Given the description of an element on the screen output the (x, y) to click on. 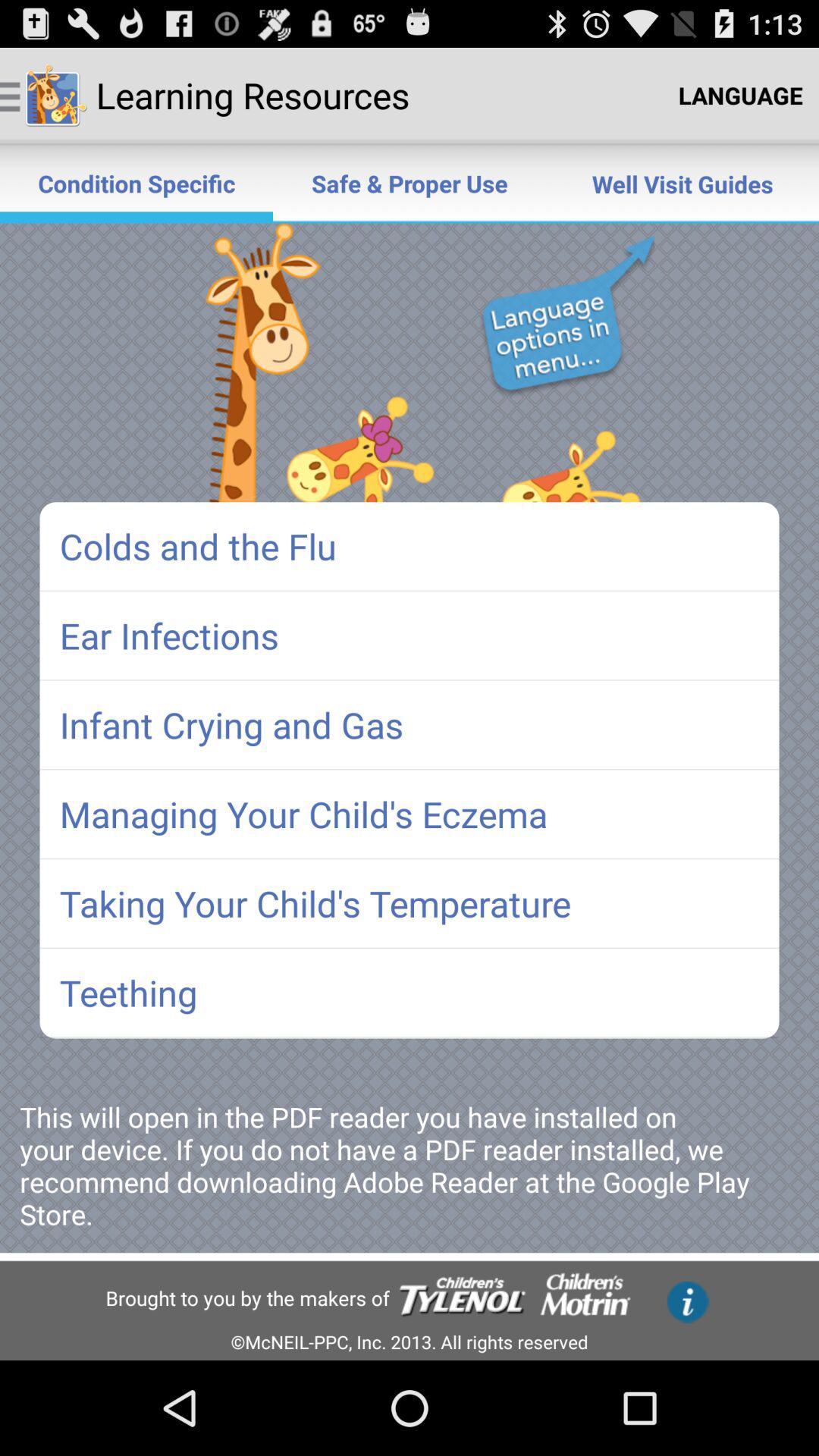
click on the image right beside the learning resources (55, 95)
click on childrens tylenol (462, 1298)
click on the information icon (688, 1302)
